Given the description of an element on the screen output the (x, y) to click on. 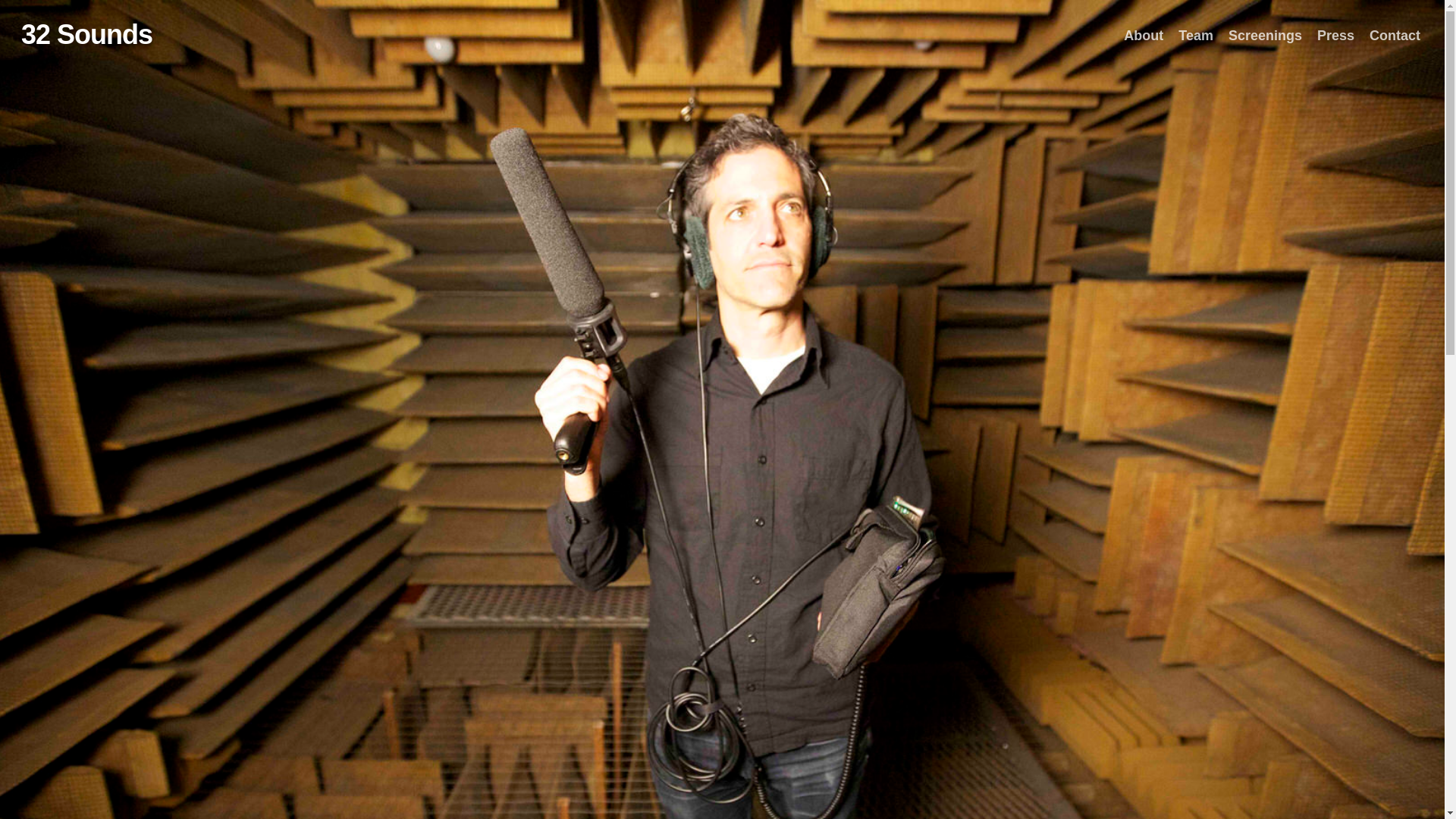
About Element type: text (1143, 35)
32 Sounds Element type: text (86, 34)
Contact Element type: text (1394, 35)
Team Element type: text (1195, 35)
Press Element type: text (1335, 35)
Screenings Element type: text (1265, 35)
